Given the description of an element on the screen output the (x, y) to click on. 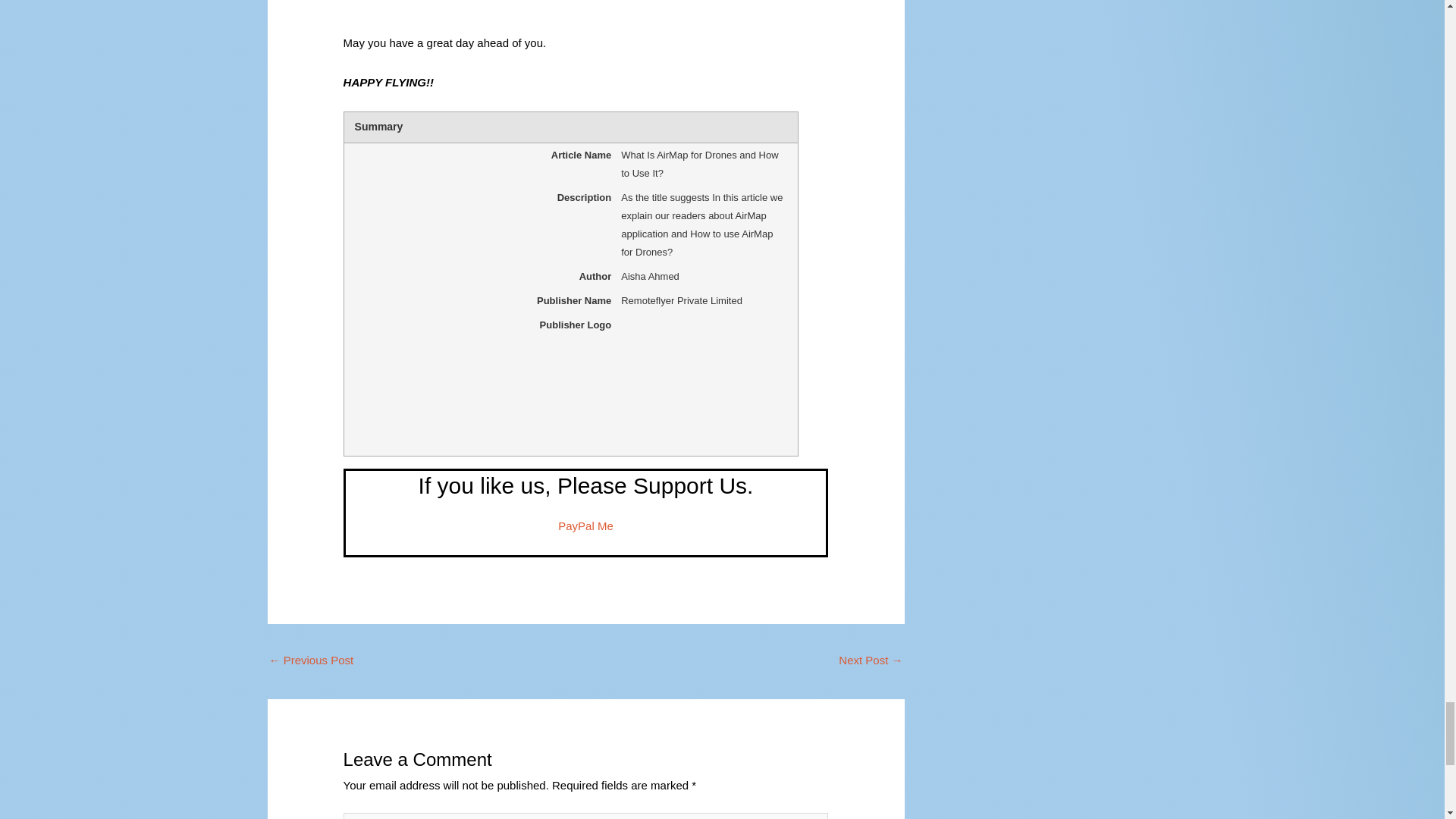
Best Job Opportunities for Drone Pilots: 2022 (310, 661)
PayPal Me (584, 525)
How Low Are Drones Allowed to Fly? (870, 661)
